Given the description of an element on the screen output the (x, y) to click on. 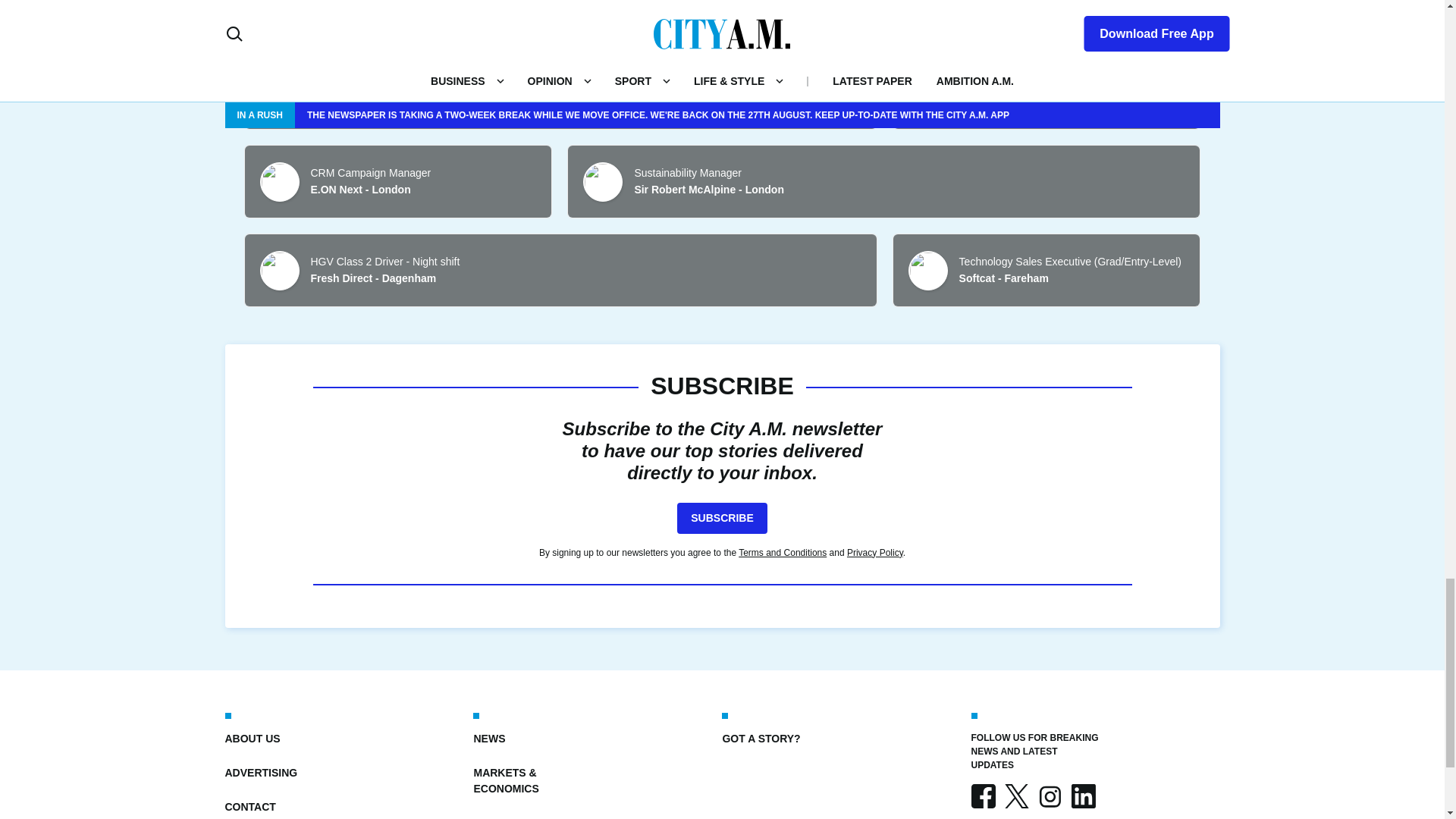
INSTAGRAM (1048, 795)
LINKEDIN (1082, 795)
FACEBOOK (982, 795)
X (1015, 795)
